Given the description of an element on the screen output the (x, y) to click on. 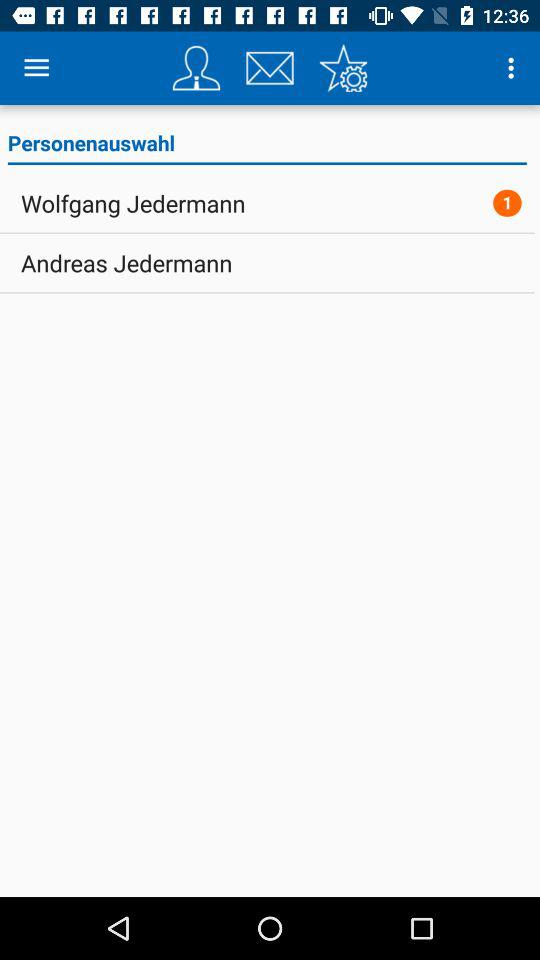
open item above the personenauswahl item (196, 67)
